Given the description of an element on the screen output the (x, y) to click on. 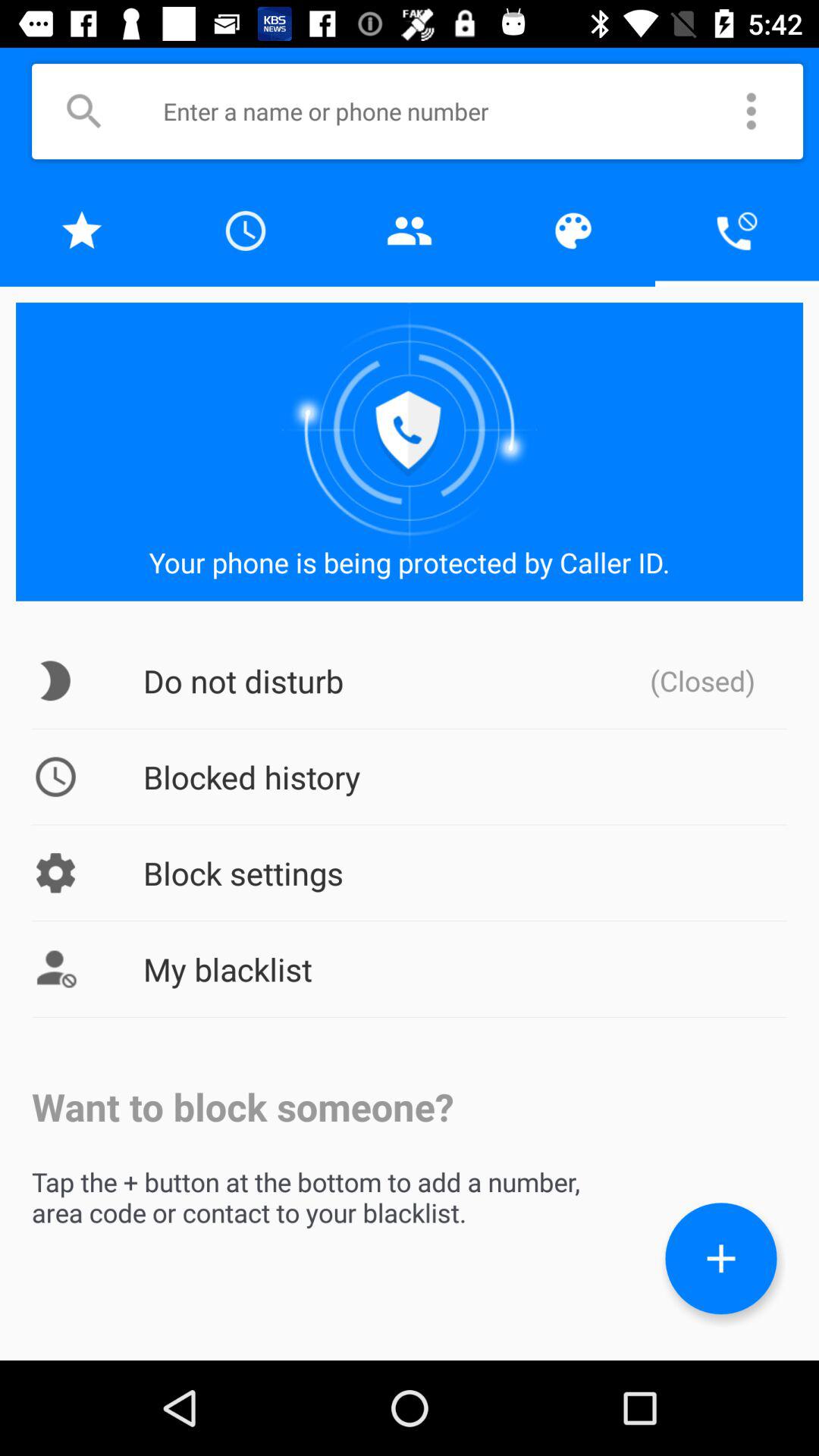
search textbox (439, 110)
